Given the description of an element on the screen output the (x, y) to click on. 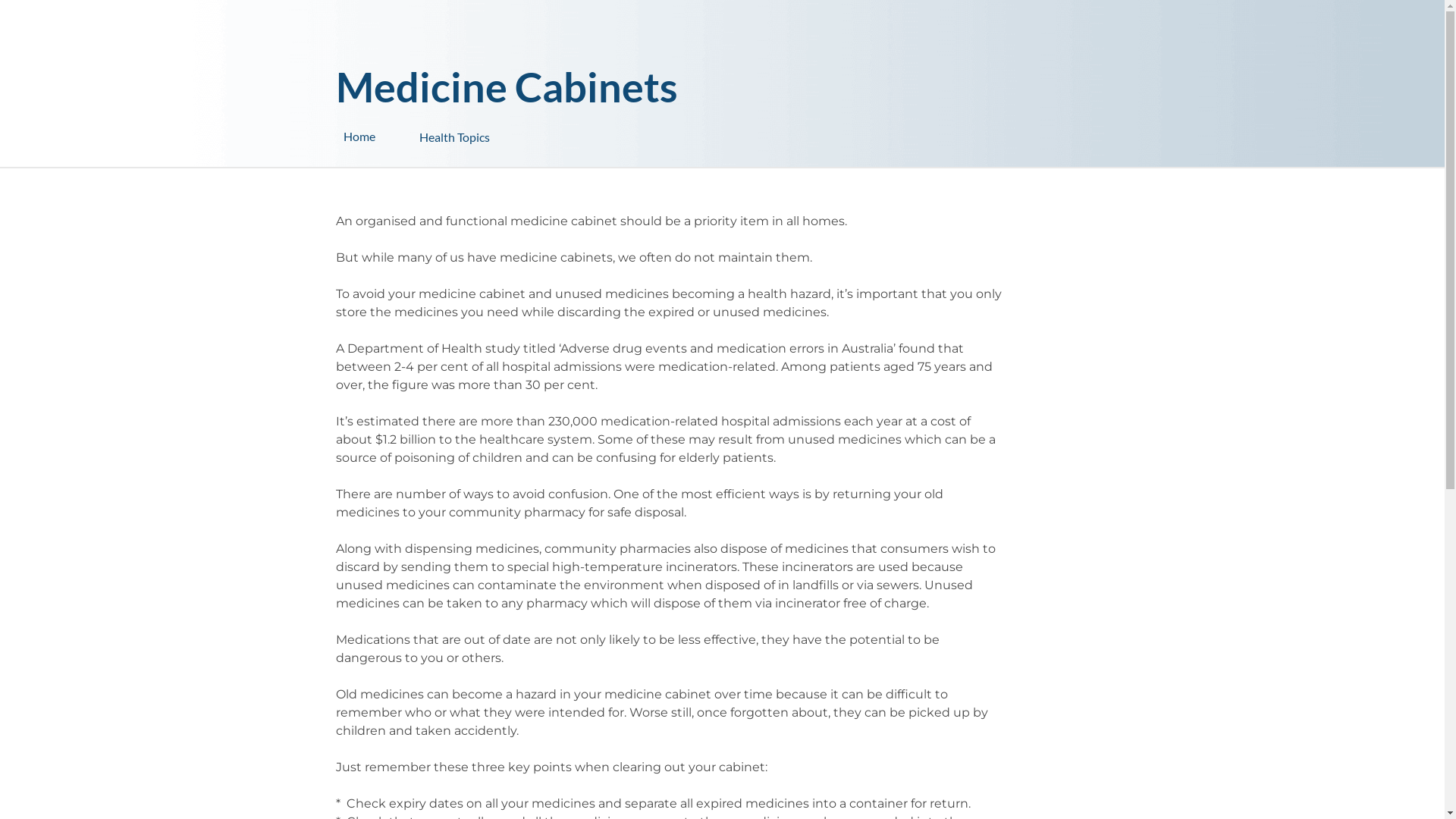
Health Topics Element type: text (494, 129)
Home Element type: text (380, 136)
